Given the description of an element on the screen output the (x, y) to click on. 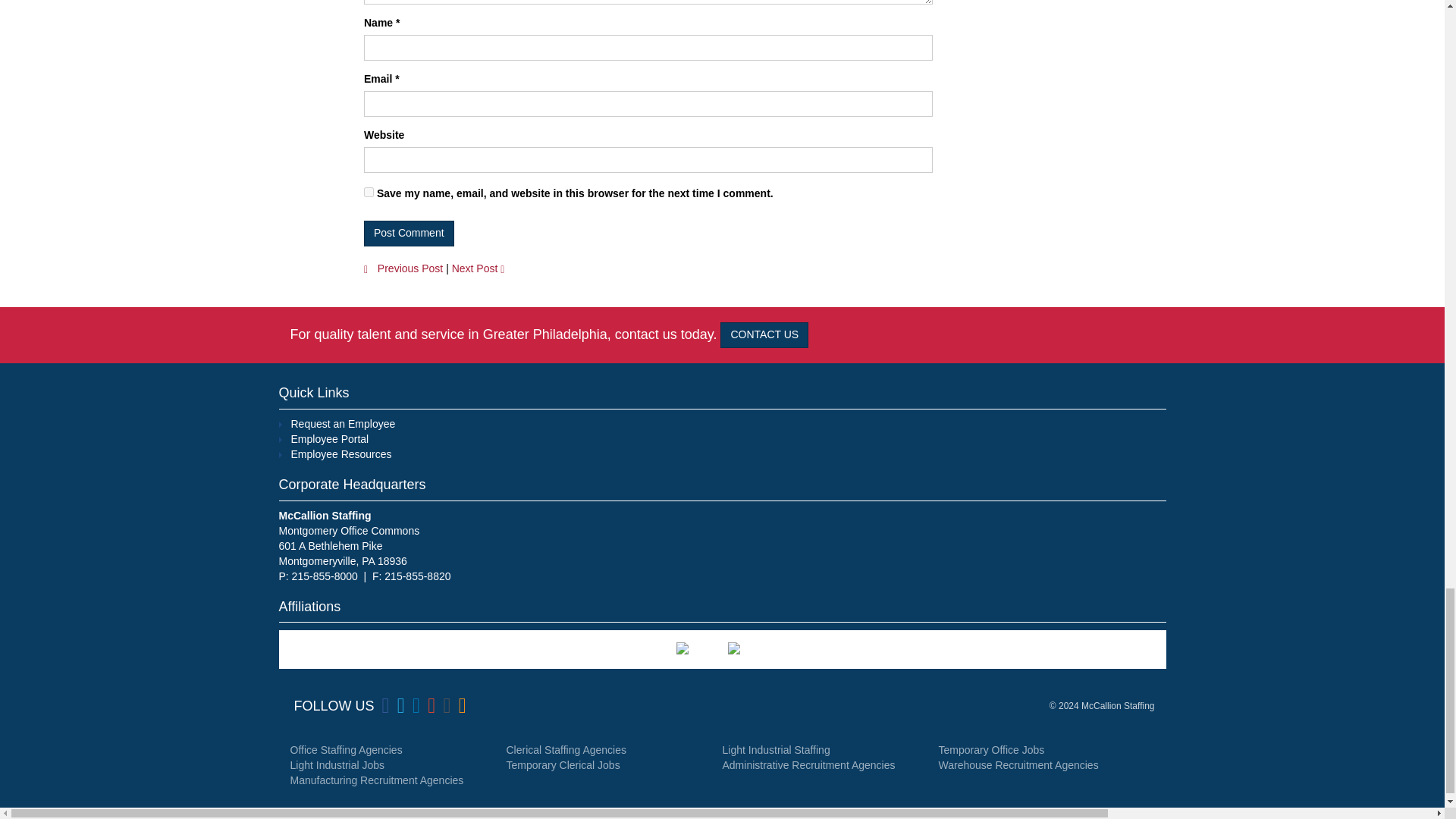
Post Comment (409, 233)
yes (369, 192)
Post Comment (409, 233)
Next Post (481, 268)
Previous Post (403, 268)
